Given the description of an element on the screen output the (x, y) to click on. 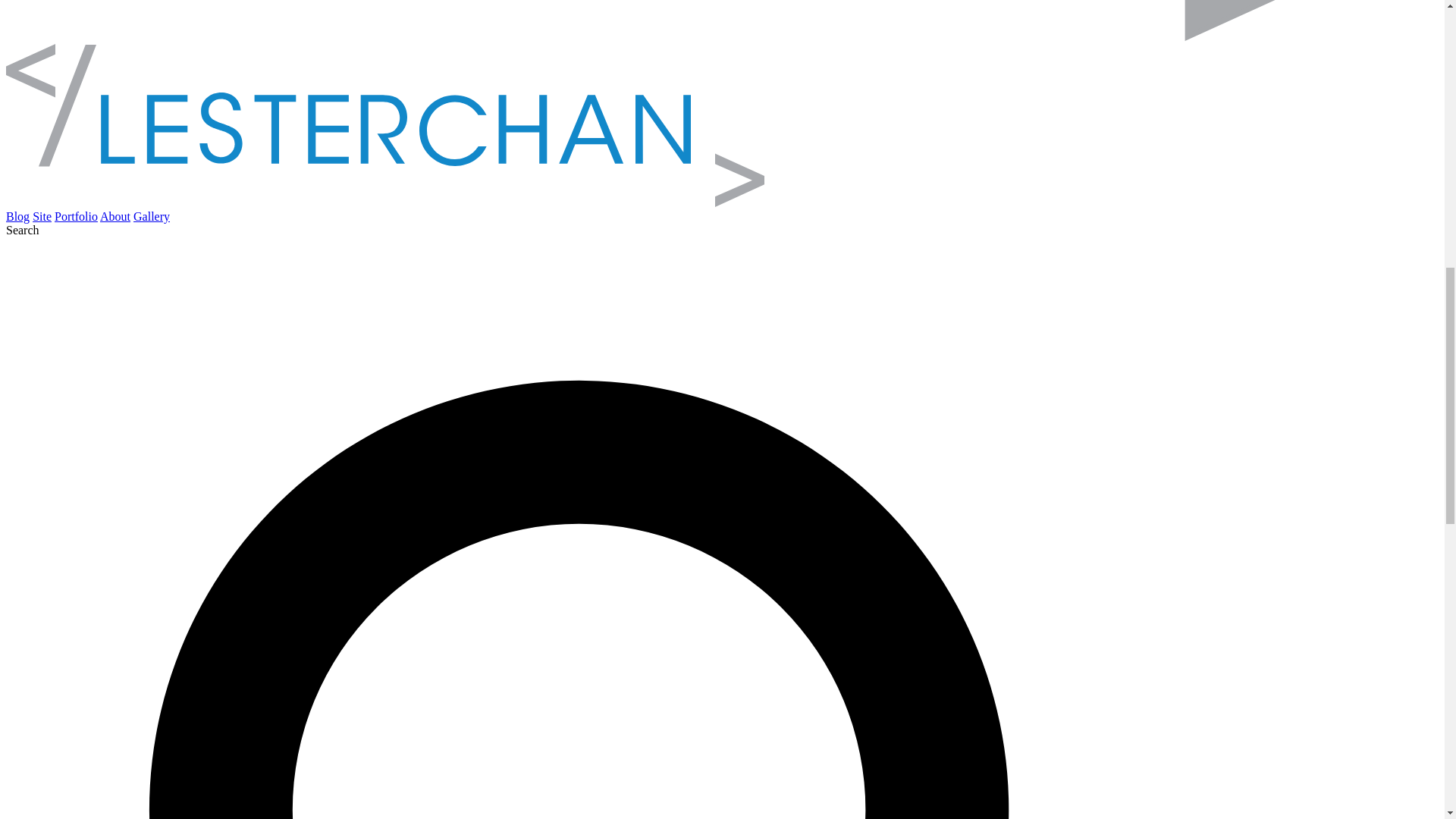
About (115, 215)
Site (41, 215)
Portfolio (76, 215)
Lester Chan's Website (384, 202)
Blog (17, 215)
Gallery (151, 215)
